Given the description of an element on the screen output the (x, y) to click on. 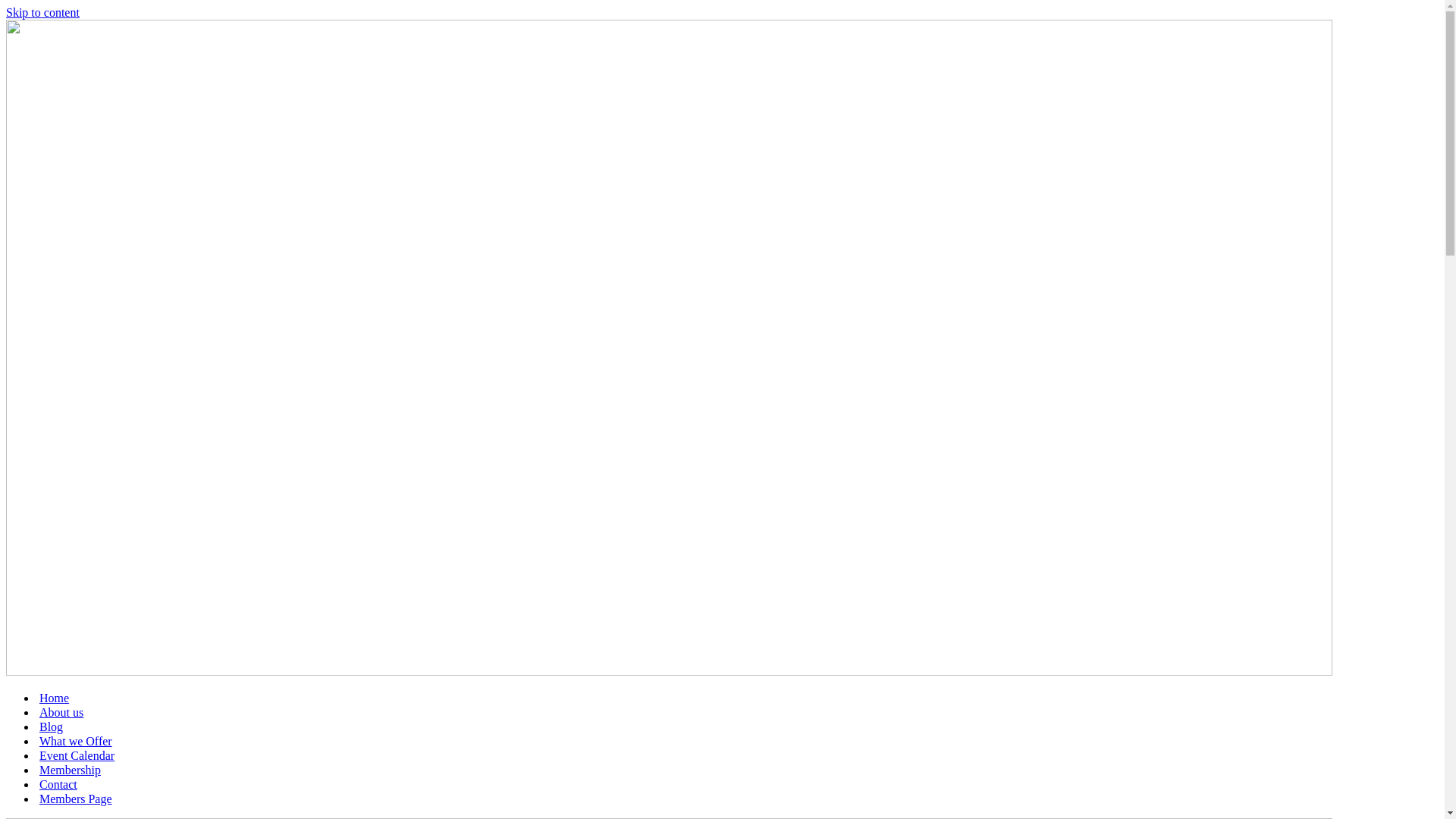
What we Offer Element type: text (75, 741)
Skip to content Element type: text (42, 12)
Blog Element type: text (50, 726)
Contact Element type: text (58, 784)
Home Element type: text (54, 697)
Membership Element type: text (69, 769)
Event Calendar Element type: text (76, 755)
About us Element type: text (61, 712)
Members Page Element type: text (75, 798)
